Given the description of an element on the screen output the (x, y) to click on. 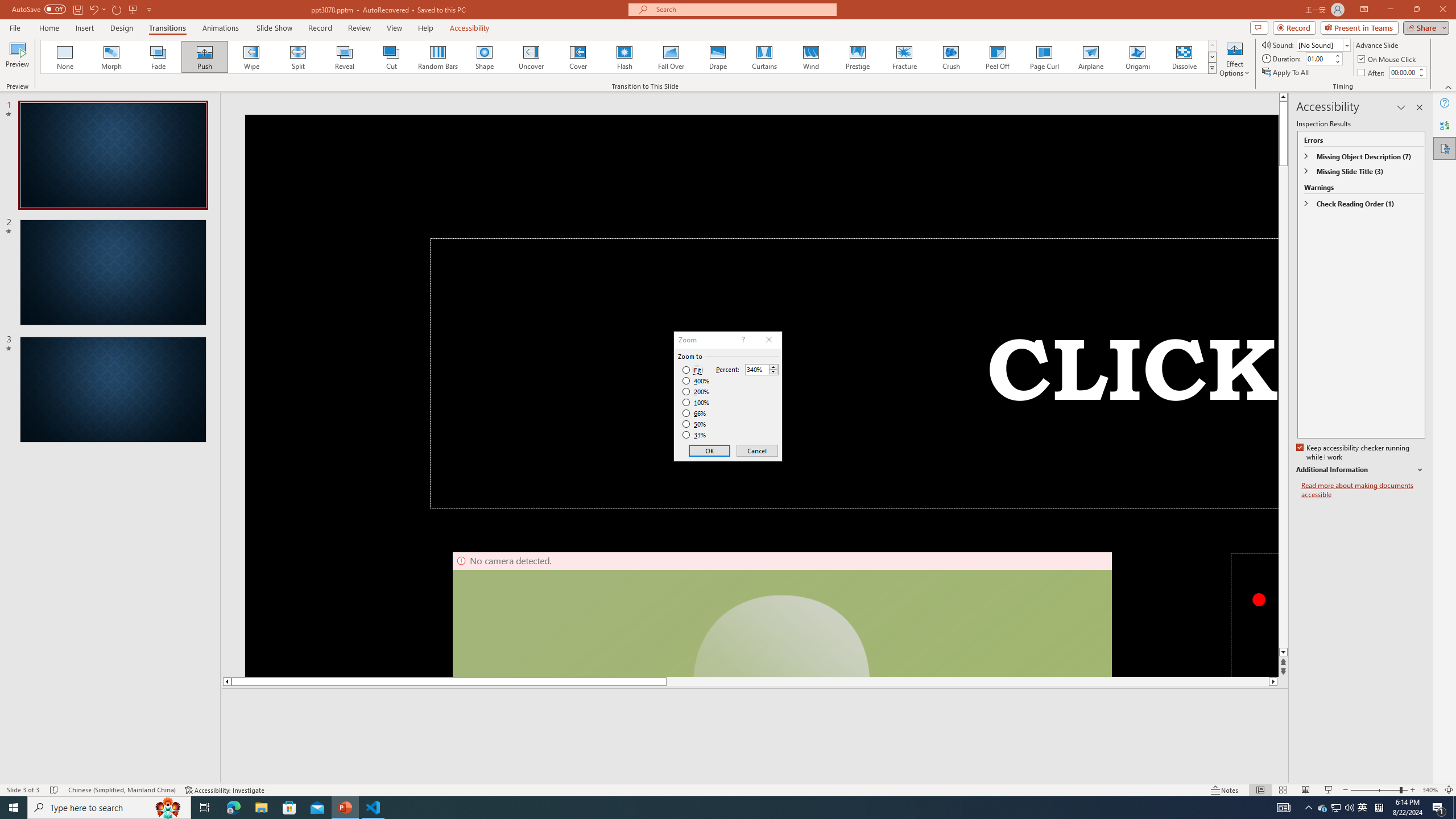
Airplane (1090, 56)
Random Bars (437, 56)
Push (205, 56)
Fracture (903, 56)
Cover (577, 56)
Peel Off (997, 56)
